Given the description of an element on the screen output the (x, y) to click on. 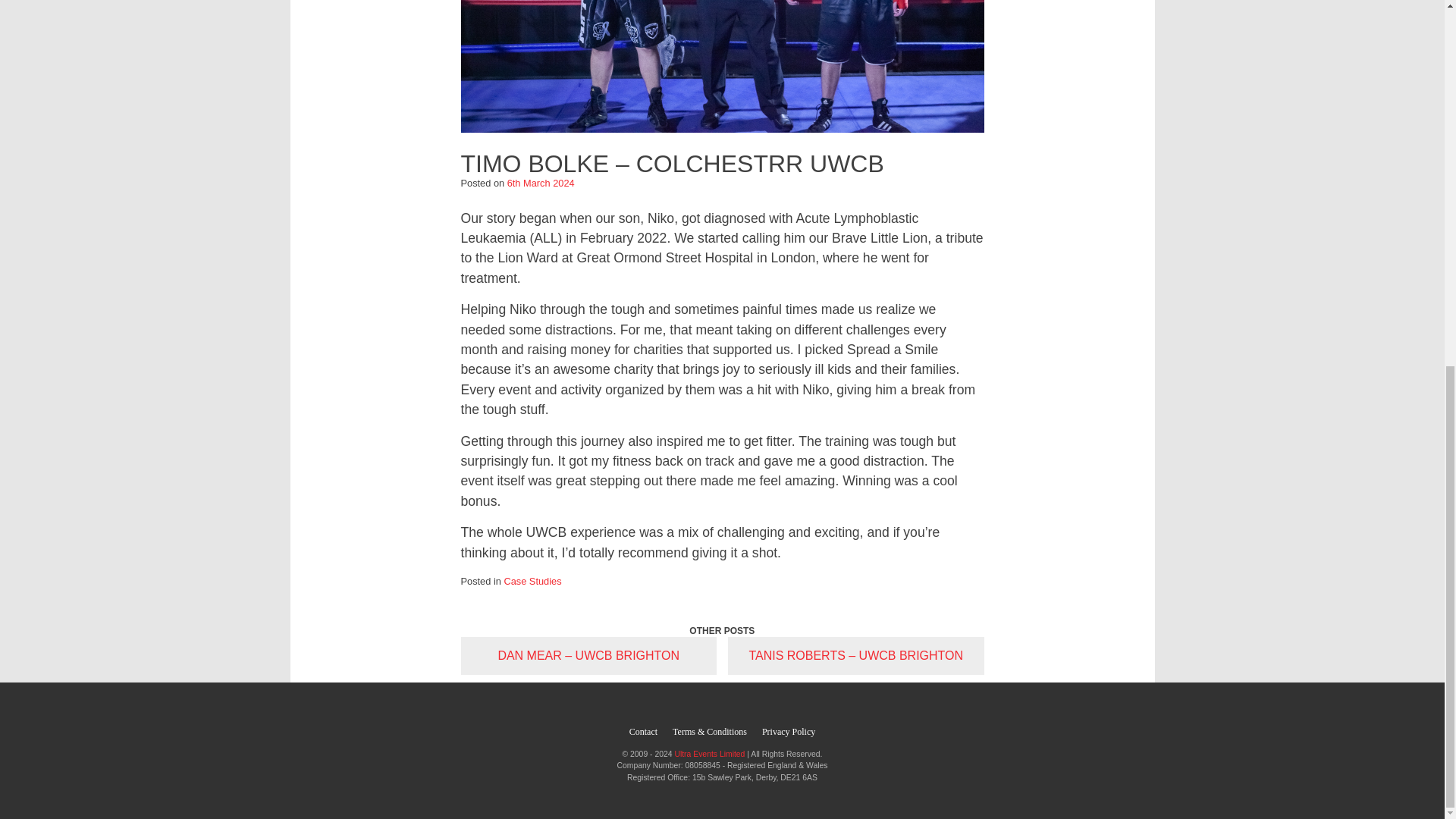
6th March 2024 (540, 183)
